Given the description of an element on the screen output the (x, y) to click on. 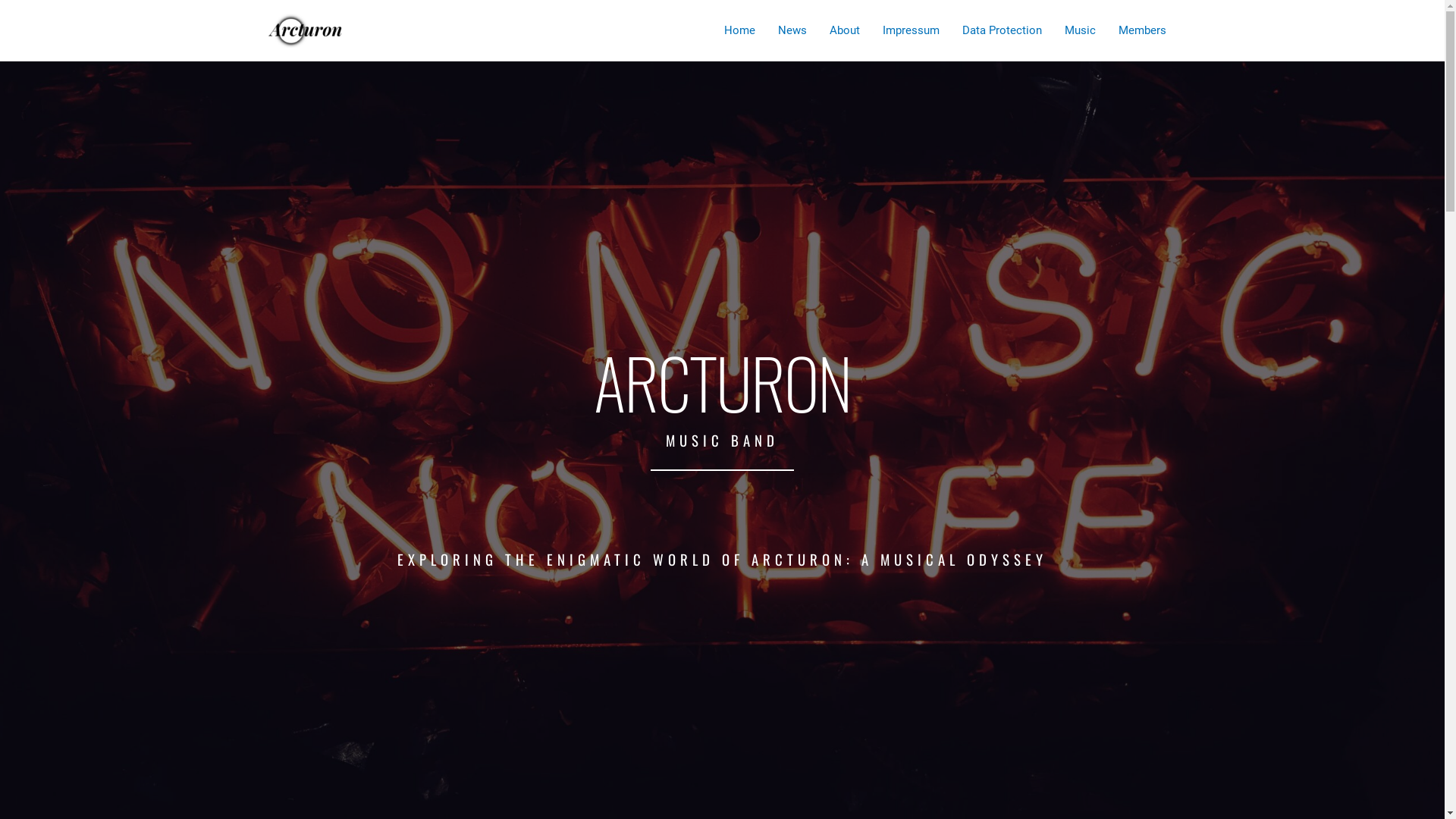
Data Protection Element type: text (1001, 30)
Impressum Element type: text (910, 30)
News Element type: text (791, 30)
Home Element type: text (739, 30)
Music Element type: text (1079, 30)
About Element type: text (843, 30)
Members Element type: text (1142, 30)
